Given the description of an element on the screen output the (x, y) to click on. 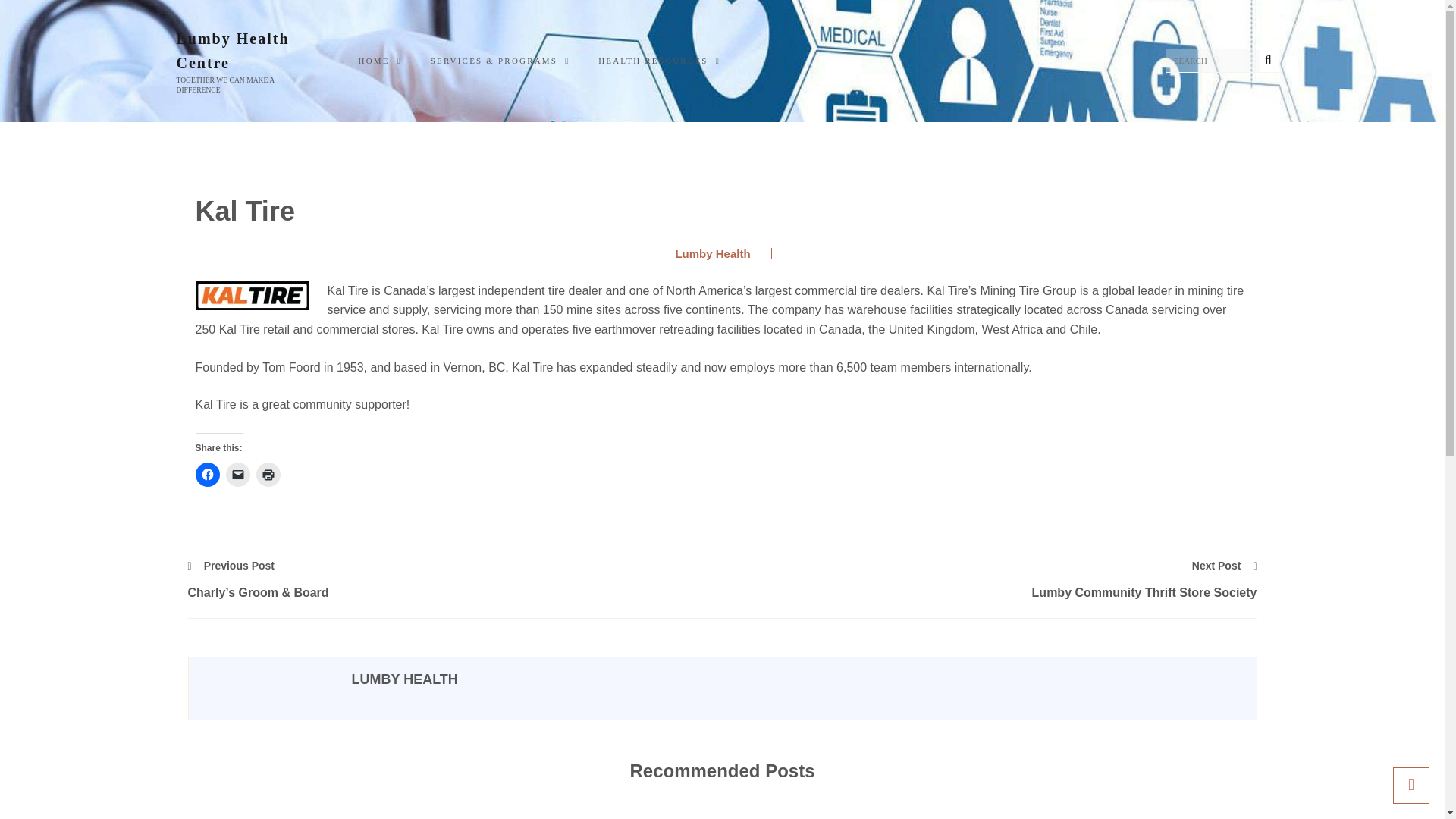
Click to print (268, 474)
HOME (385, 60)
Previous Post (231, 565)
HEALTH RESOURCES (664, 60)
Click to share on Facebook (207, 474)
Lumby Health (706, 253)
Click to email a link to a friend (237, 474)
Next Post (1224, 565)
Lumby Community Thrift Store Society (989, 592)
Lumby Health Centre (242, 50)
